Given the description of an element on the screen output the (x, y) to click on. 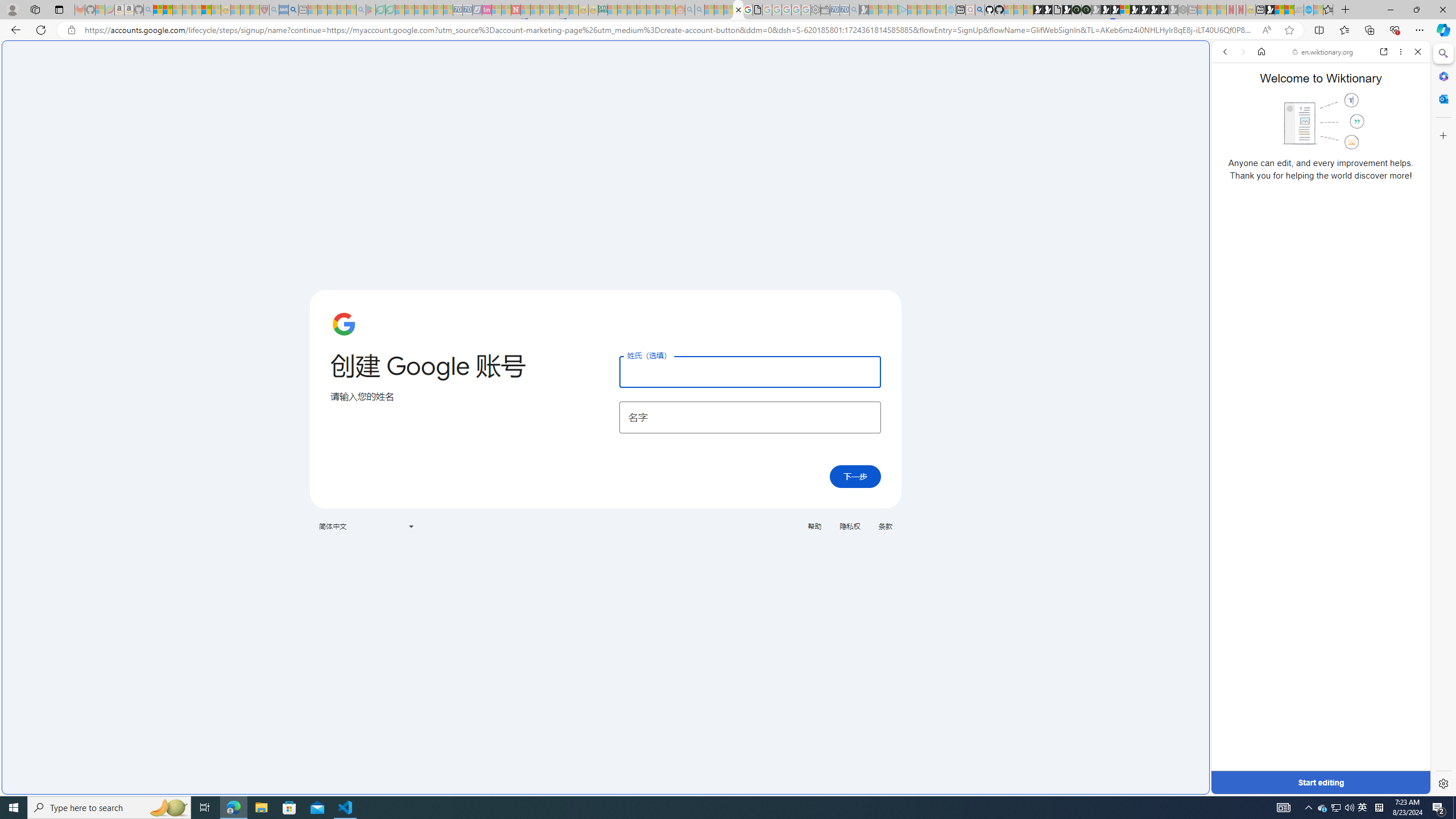
Earth has six continents not seven, radical new study claims (1288, 9)
